Given the description of an element on the screen output the (x, y) to click on. 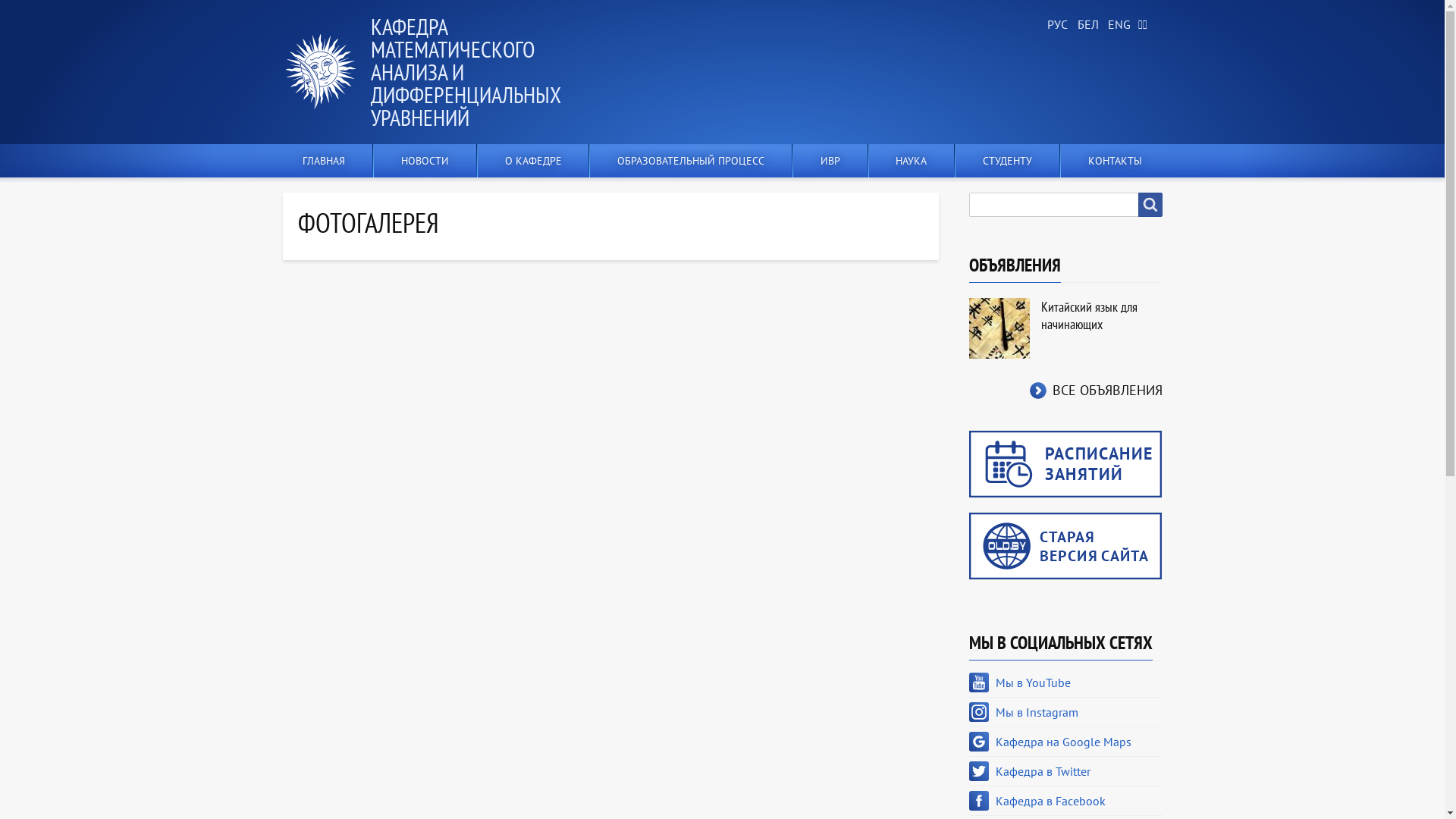
English Element type: text (1116, 24)
Russian Element type: text (1055, 24)
Belarusian Element type: text (1085, 24)
Search Element type: text (1149, 204)
Chinese, Traditional Element type: text (1146, 24)
